Given the description of an element on the screen output the (x, y) to click on. 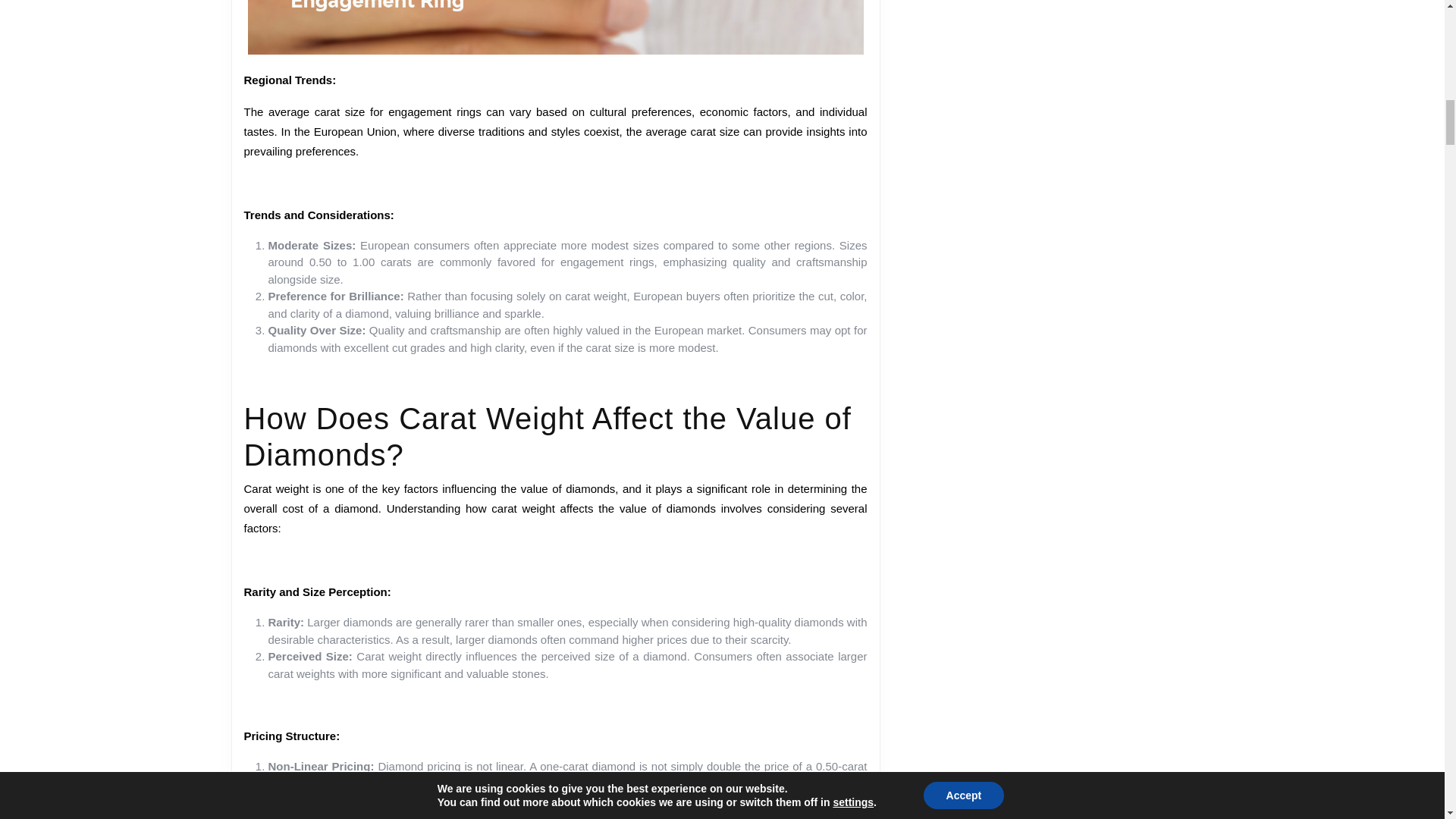
size of diamonds in jewelry (693, 639)
